Given the description of an element on the screen output the (x, y) to click on. 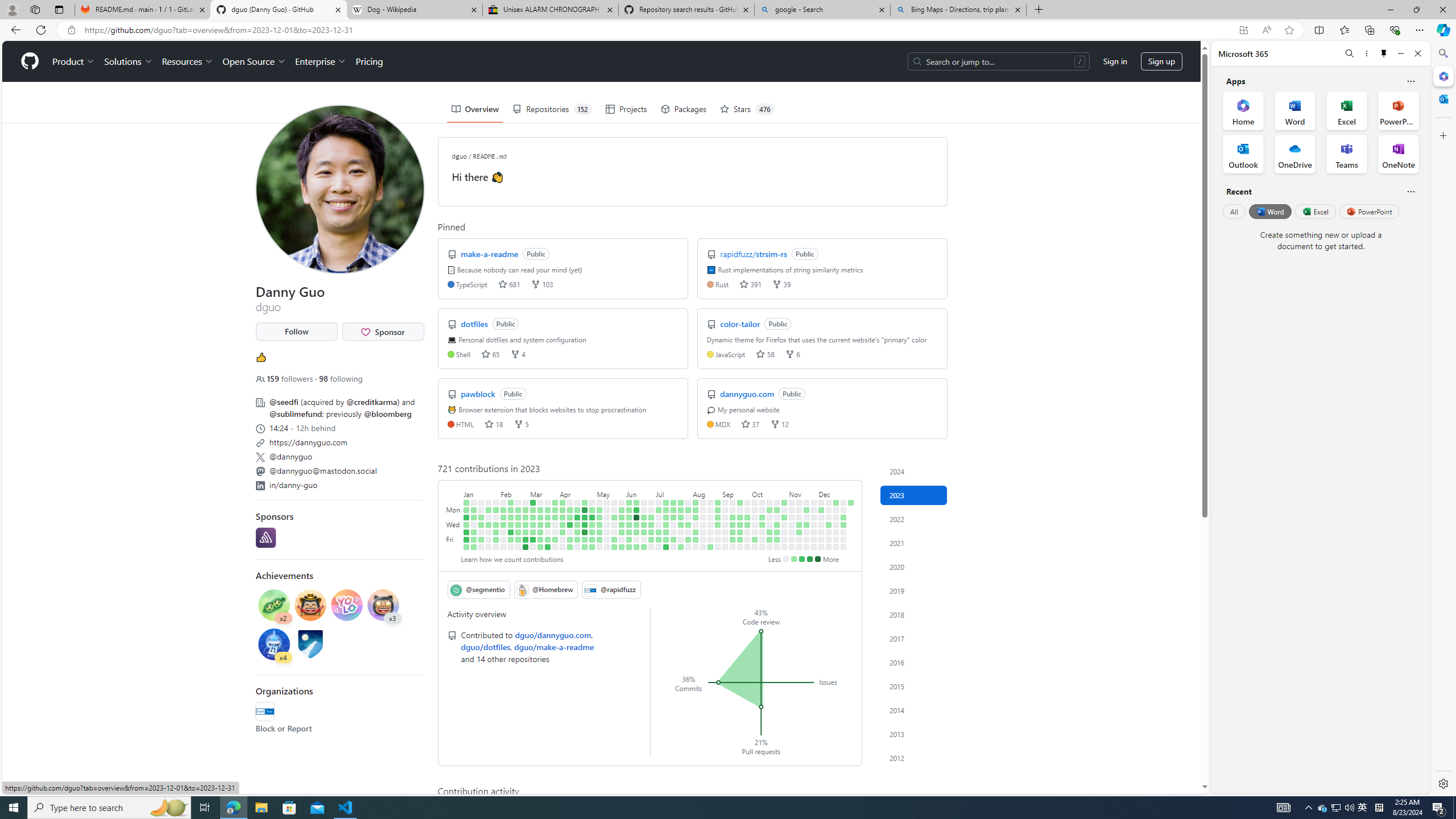
No contributions on December 23rd. (836, 546)
No contributions on November 29th. (813, 524)
No contributions on October 12th. (761, 531)
2 contributions on October 26th. (777, 531)
2013 (913, 733)
All (1233, 210)
Contribution activity in 2016 (913, 662)
1 contribution on March 7th. (532, 517)
November (802, 492)
1 contribution on July 31st. (688, 509)
@seedfi (283, 401)
No contributions on August 31st. (717, 531)
No contributions on December 6th. (821, 524)
6 contributions on April 21st. (577, 539)
Homepage (29, 61)
